Given the description of an element on the screen output the (x, y) to click on. 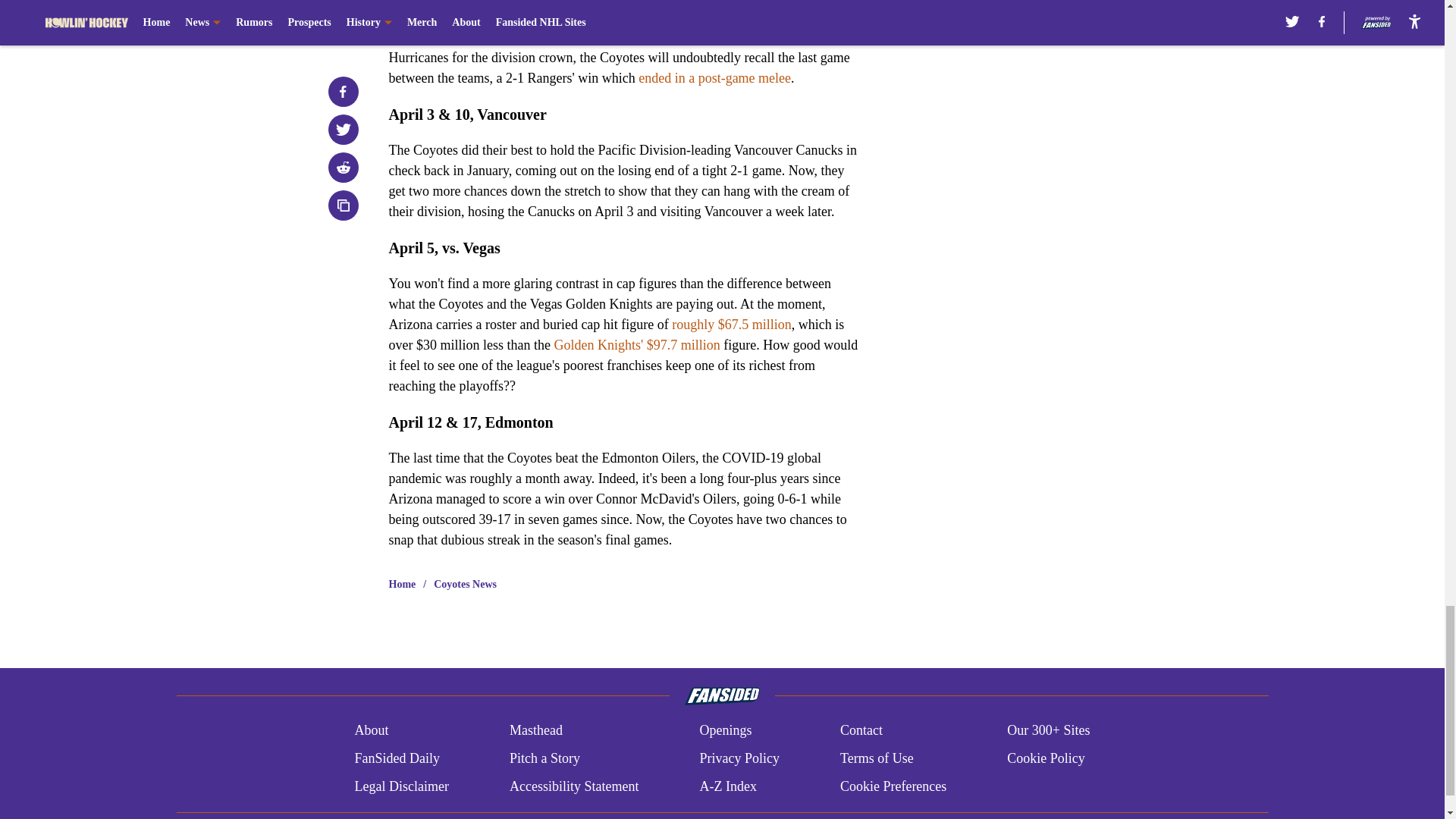
Home (401, 584)
Contact (861, 730)
Masthead (535, 730)
About (370, 730)
Coyotes News (464, 584)
ended in a post-game melee (714, 77)
Openings (724, 730)
FanSided Daily (396, 758)
Privacy Policy (738, 758)
Pitch a Story (544, 758)
